Given the description of an element on the screen output the (x, y) to click on. 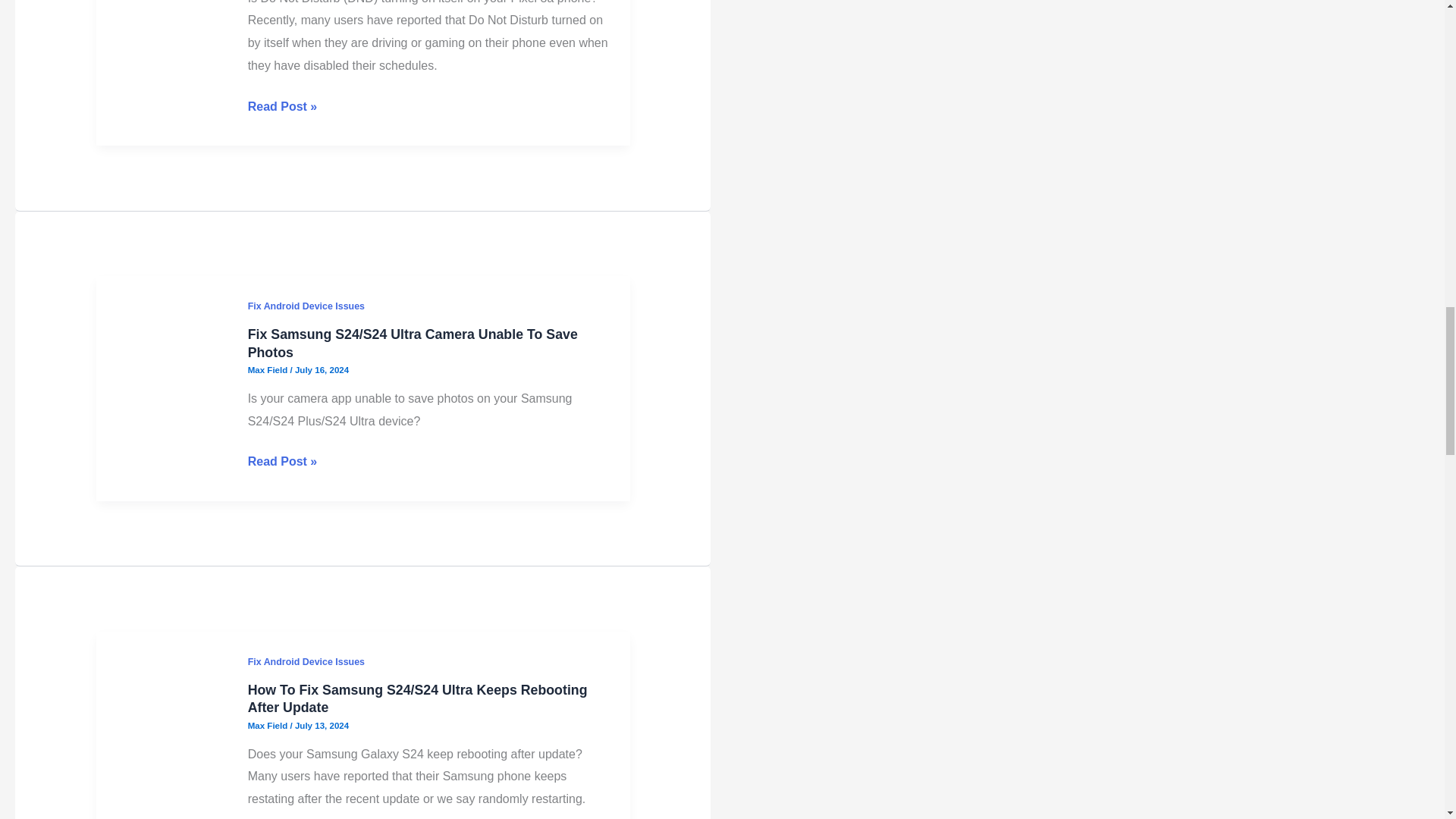
View all posts by Max Field (268, 56)
View all posts by Max Field (268, 662)
